Given the description of an element on the screen output the (x, y) to click on. 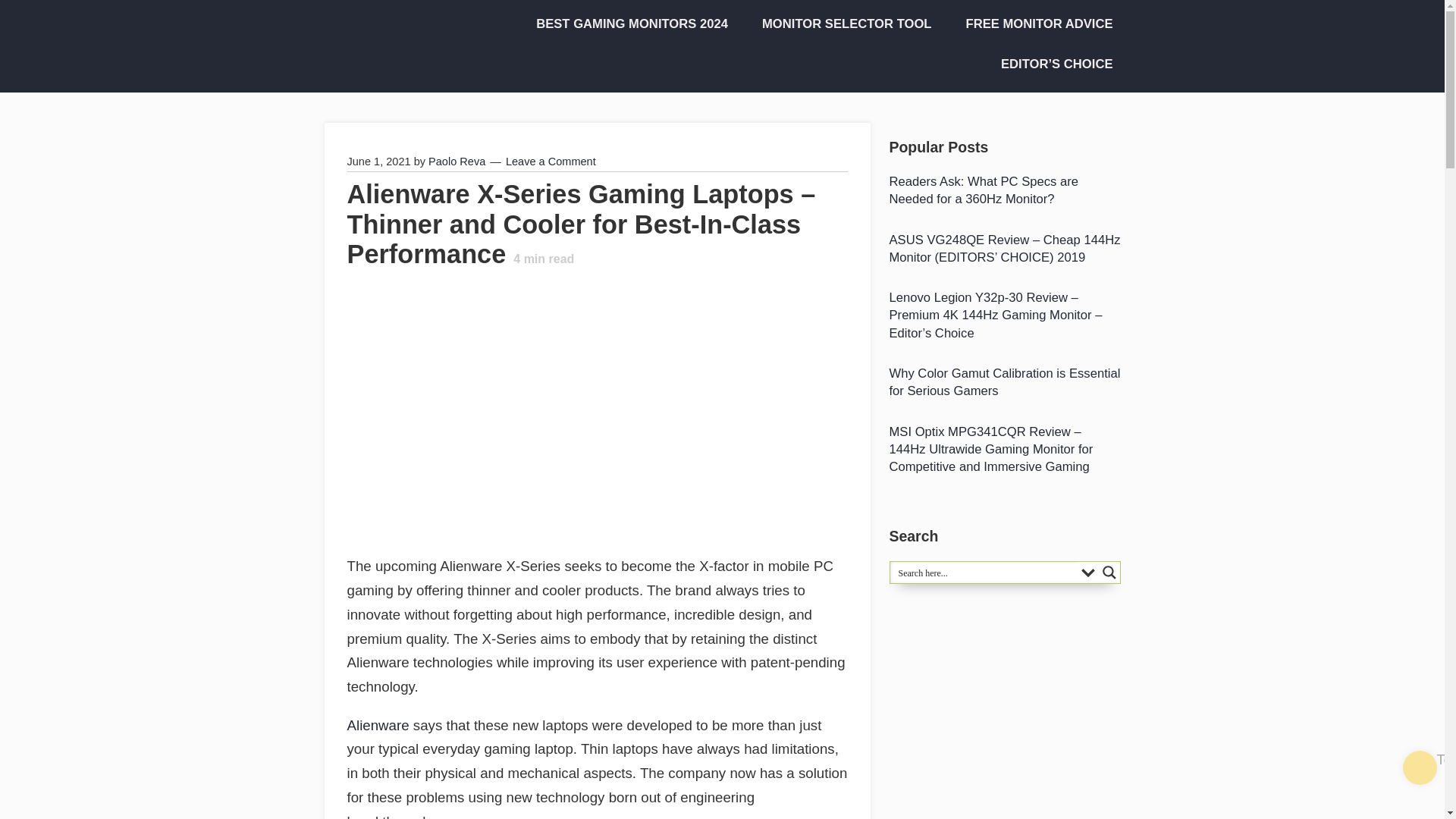
Top (1420, 767)
Back To Top (1420, 767)
Alienware (378, 725)
MONITOR SELECTOR TOOL (841, 24)
BEST GAMING MONITORS 2024 (626, 24)
Free Gaming Monitor Advice Service (1033, 24)
Leave a Comment (550, 161)
FREE MONITOR ADVICE (1033, 24)
Readers Ask: What PC Specs are Needed for a 360Hz Monitor? (1003, 190)
Why Color Gamut Calibration is Essential for Serious Gamers (1003, 382)
